Given the description of an element on the screen output the (x, y) to click on. 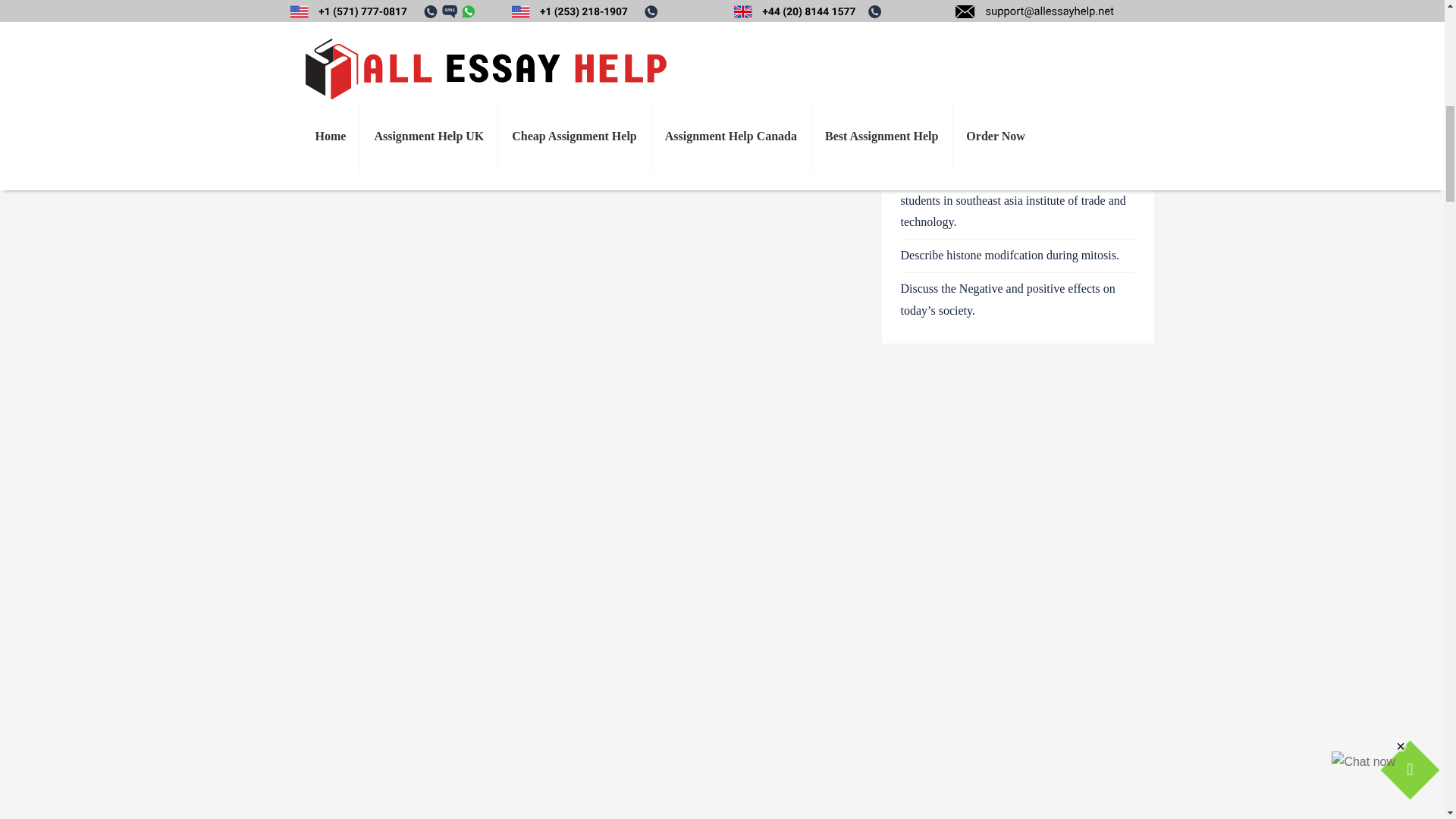
Describe histone modifcation during mitosis. (1010, 274)
